Given the description of an element on the screen output the (x, y) to click on. 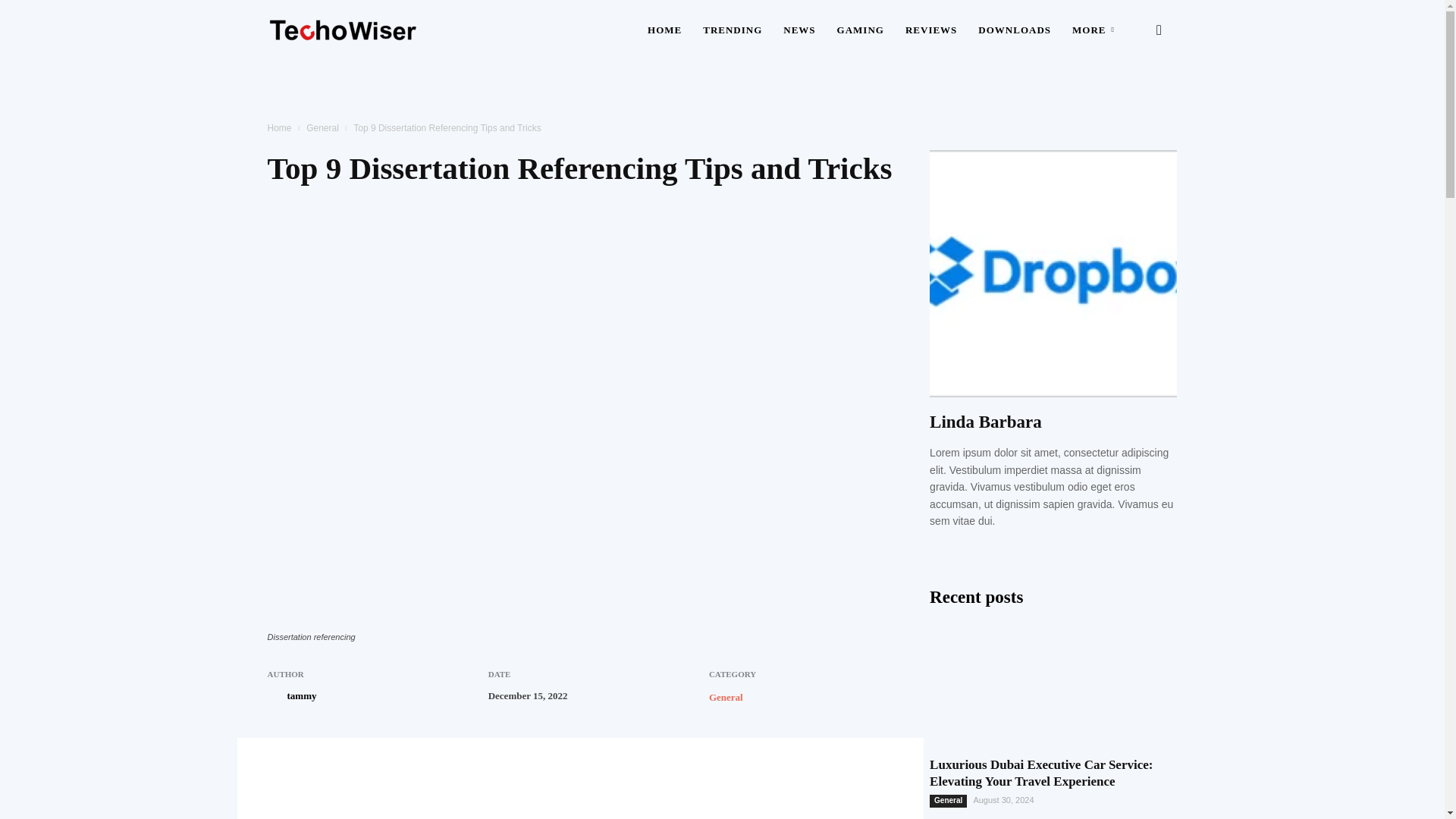
tammy (300, 695)
Search (1134, 102)
GAMING (861, 30)
MORE (1095, 30)
DOWNLOADS (1014, 30)
HOME (665, 30)
Home (278, 127)
TRENDING (733, 30)
General (725, 696)
TechoWiser (342, 30)
